Given the description of an element on the screen output the (x, y) to click on. 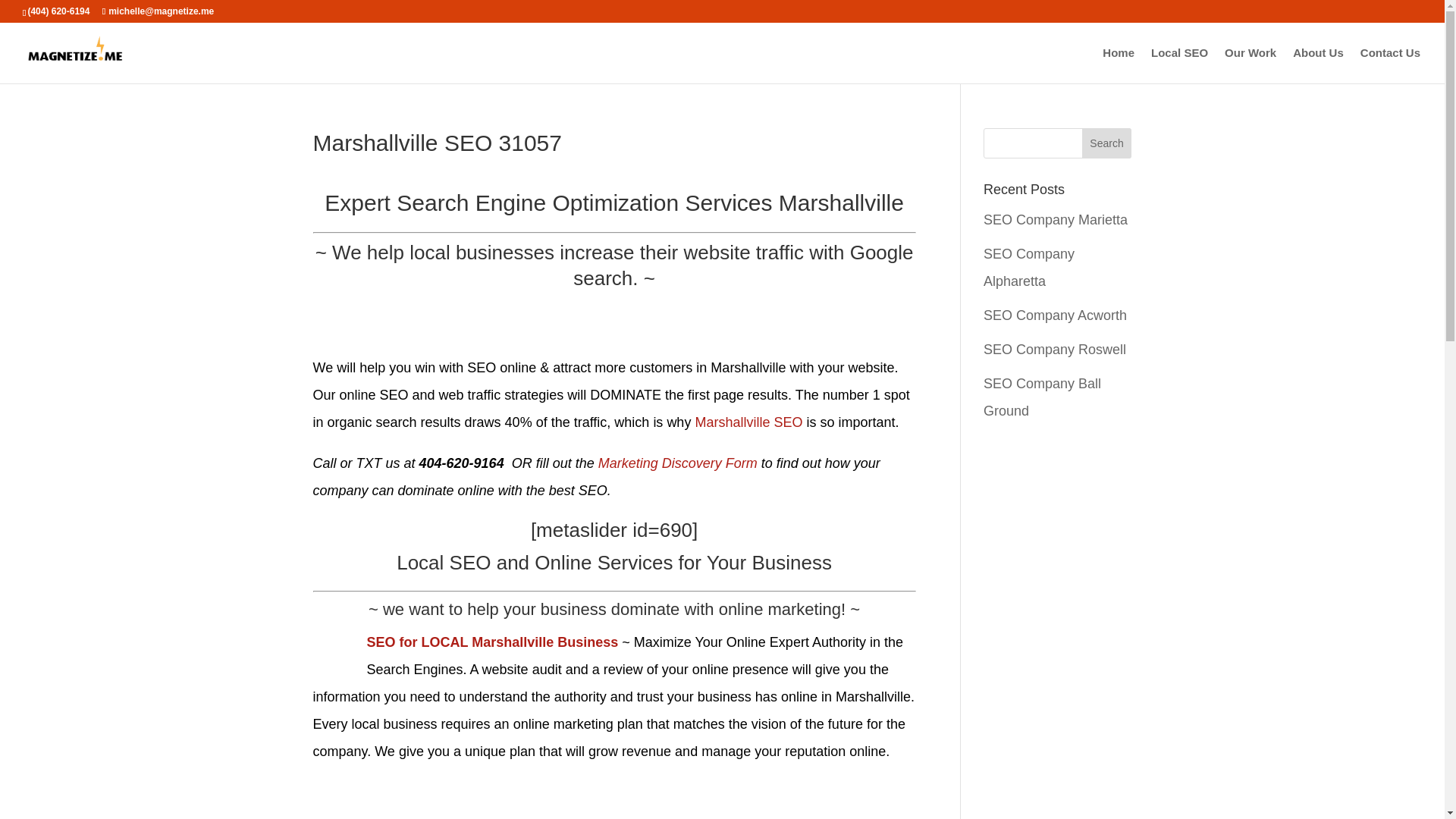
SEO Company Roswell (1054, 349)
Our Work (1250, 65)
Contact Us (1390, 65)
SEO Company Ball Ground (1042, 396)
About Us (1317, 65)
SEO Company Acworth (1055, 314)
Search (1106, 142)
Marketing Discovery Form (677, 462)
Search (1106, 142)
Home (1118, 65)
Local SEO (1179, 65)
SEO for LOCAL Marshallville Business (492, 642)
Marshallville SEO (748, 421)
SEO Company Marietta (1055, 219)
SEO Company Alpharetta (1029, 267)
